Given the description of an element on the screen output the (x, y) to click on. 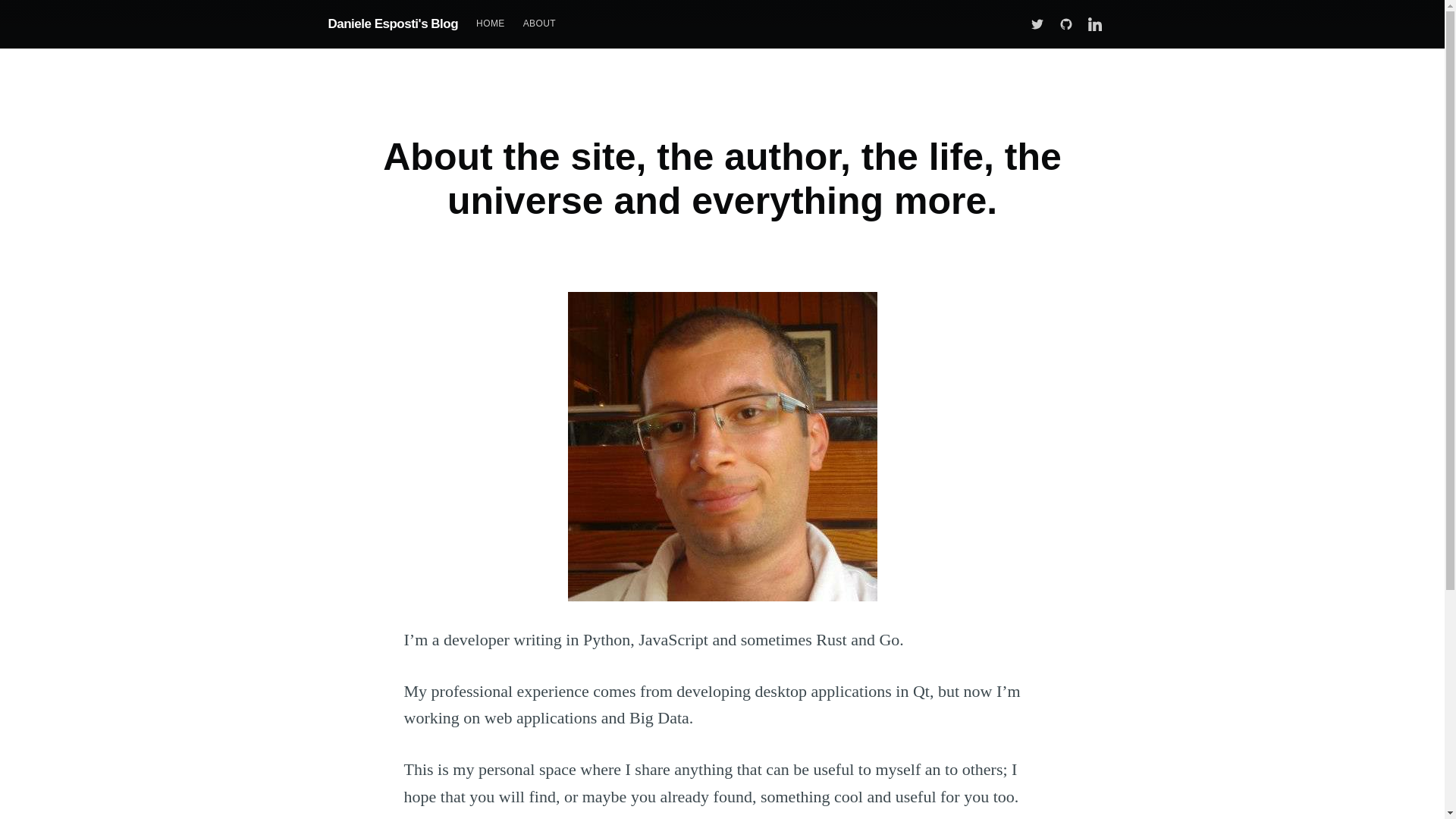
Daniele Esposti's Blog (392, 23)
HOME (490, 23)
ABOUT (538, 23)
